Given the description of an element on the screen output the (x, y) to click on. 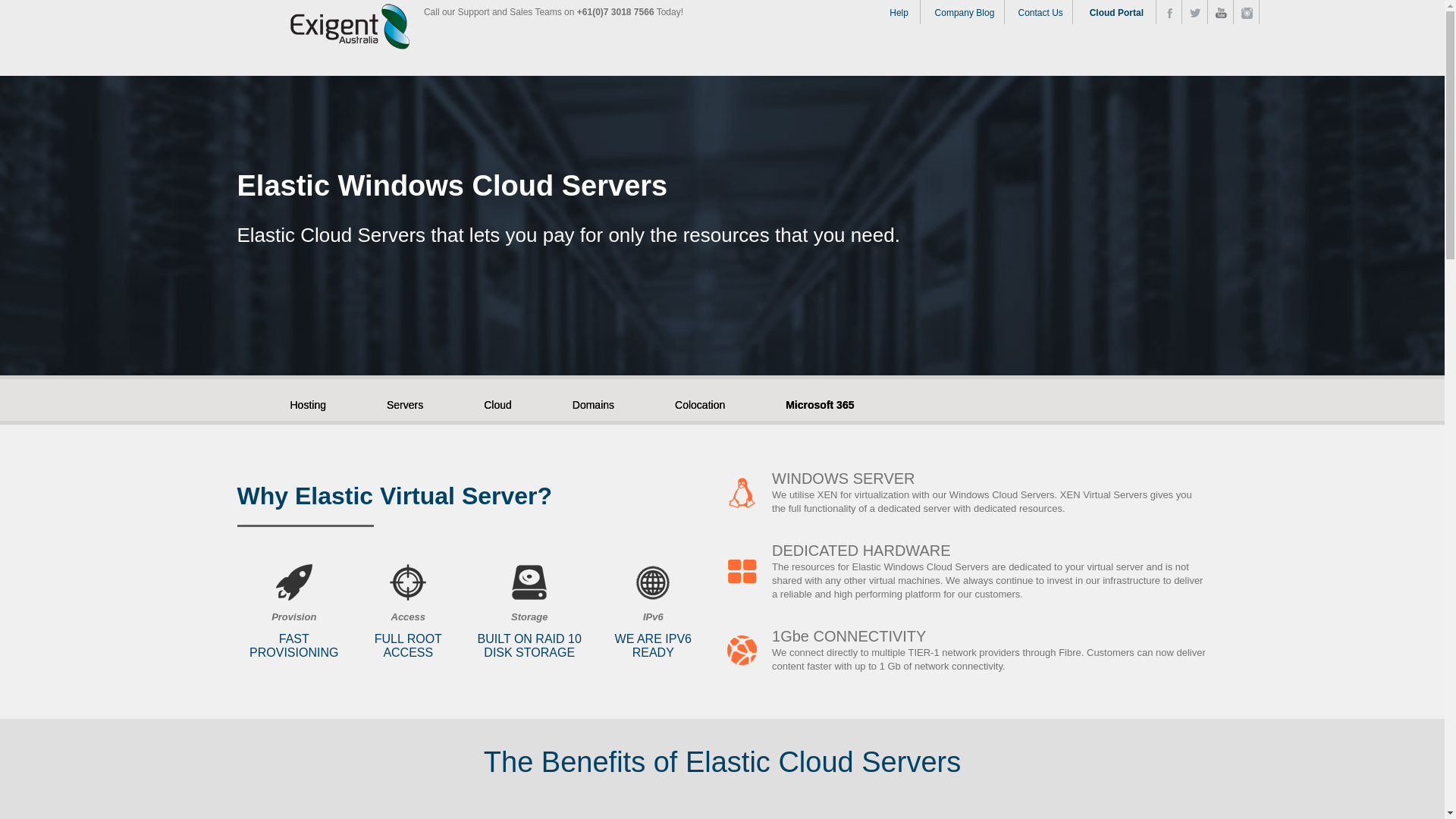
Company Blog Element type: text (964, 11)
Contact Us Element type: text (1039, 11)
+61(0)7 3018 7566 Element type: text (615, 11)
Facebook Element type: hover (1169, 12)
Cloud Portal Element type: text (1116, 11)
Help Element type: text (898, 11)
Domains Element type: text (608, 403)
Exigent Australia Element type: hover (349, 26)
YouTube Element type: hover (1220, 12)
Servers Element type: text (420, 403)
Colocation Element type: text (714, 403)
Twitter Element type: hover (1194, 12)
Cloud Element type: text (512, 403)
Hosting Element type: text (322, 403)
Instagram Element type: hover (1246, 12)
Microsoft 365 Element type: text (819, 403)
